Given the description of an element on the screen output the (x, y) to click on. 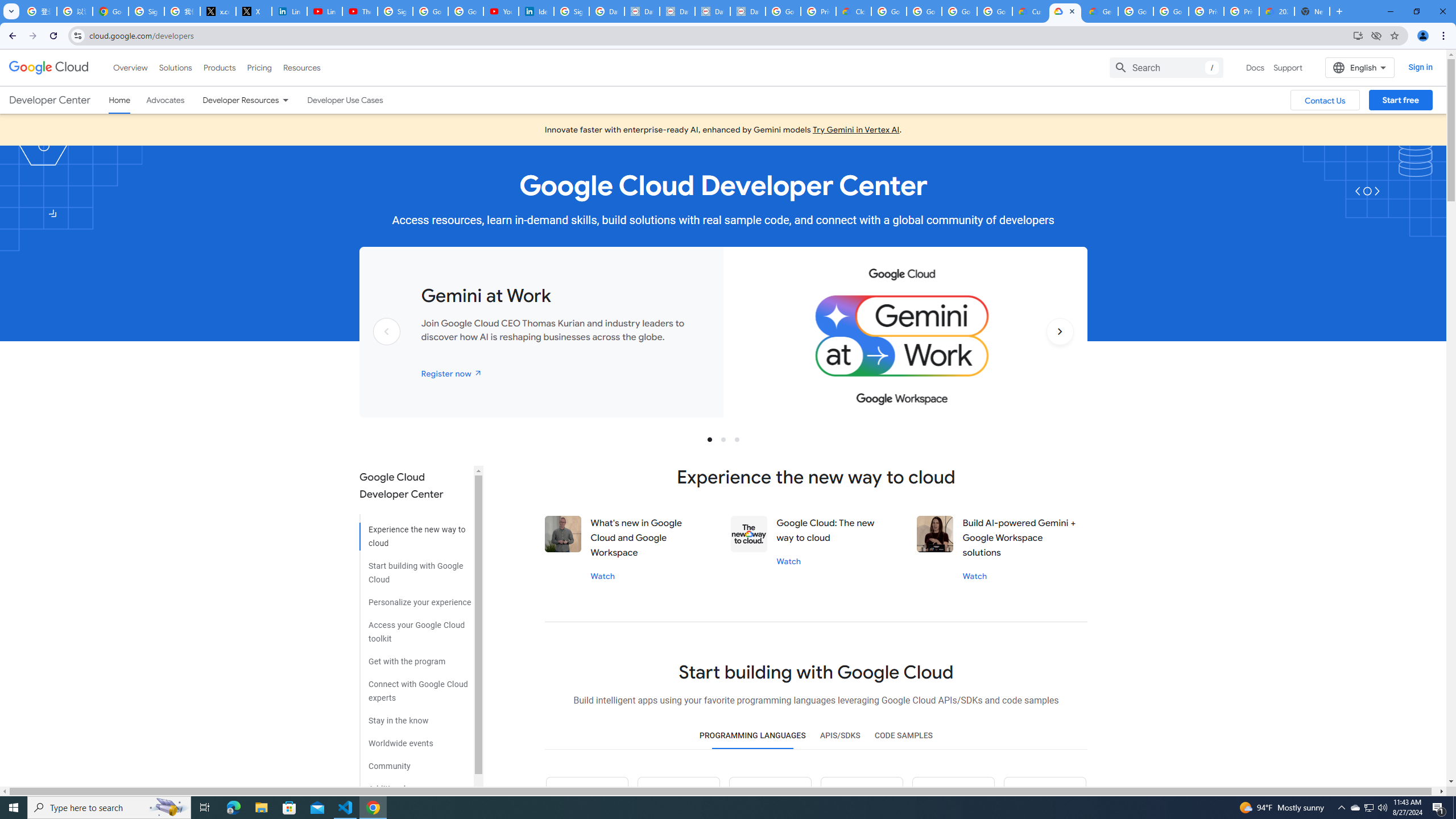
Slide 2 (722, 438)
Watch (974, 575)
Start building with Google Cloud (415, 568)
PROGRAMMING LANGUAGES (752, 735)
Stay in the know (415, 716)
Solutions (175, 67)
Install Google Cloud (1358, 35)
Sign in - Google Accounts (394, 11)
